Given the description of an element on the screen output the (x, y) to click on. 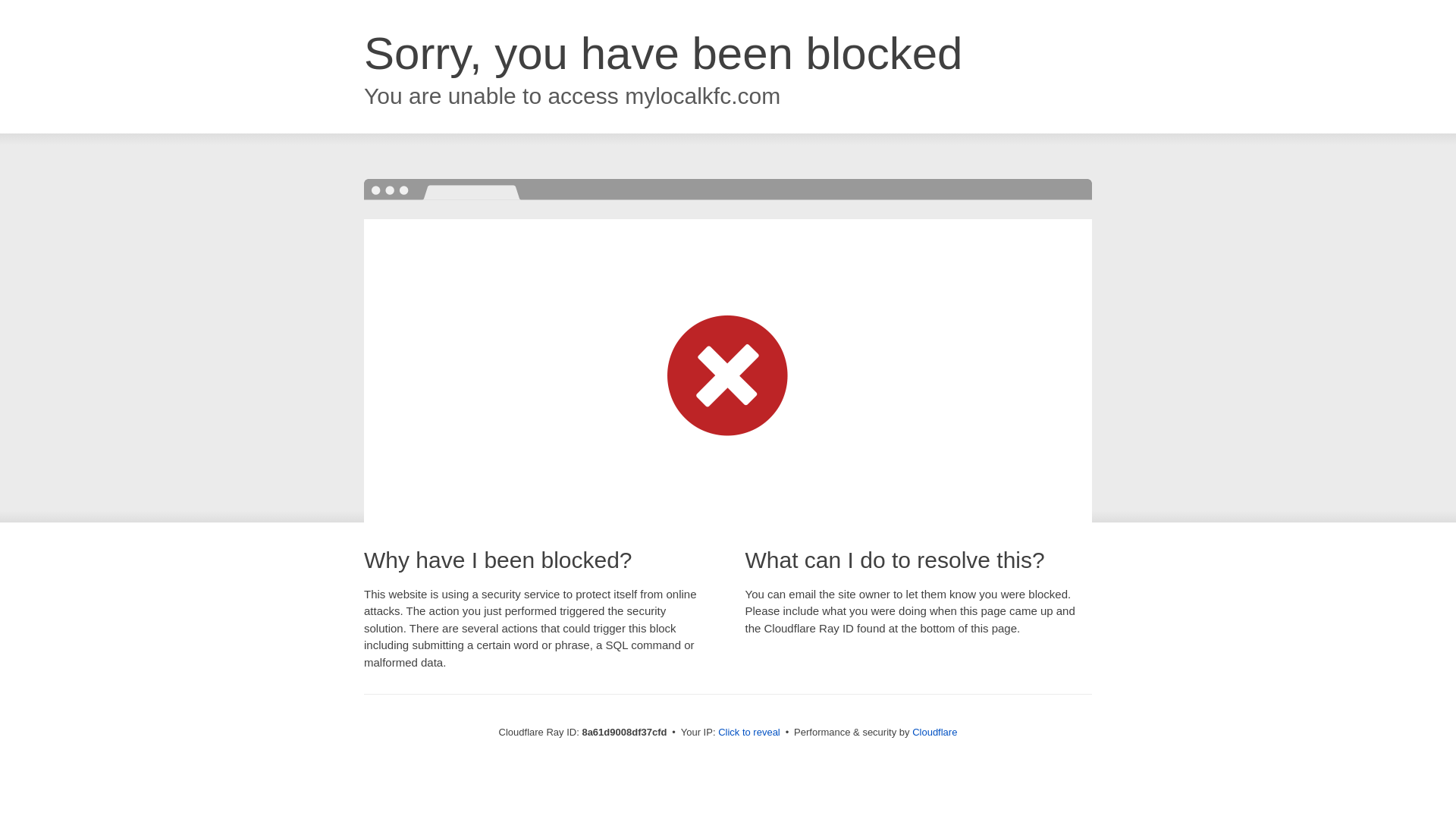
Click to reveal (748, 732)
Cloudflare (934, 731)
